Given the description of an element on the screen output the (x, y) to click on. 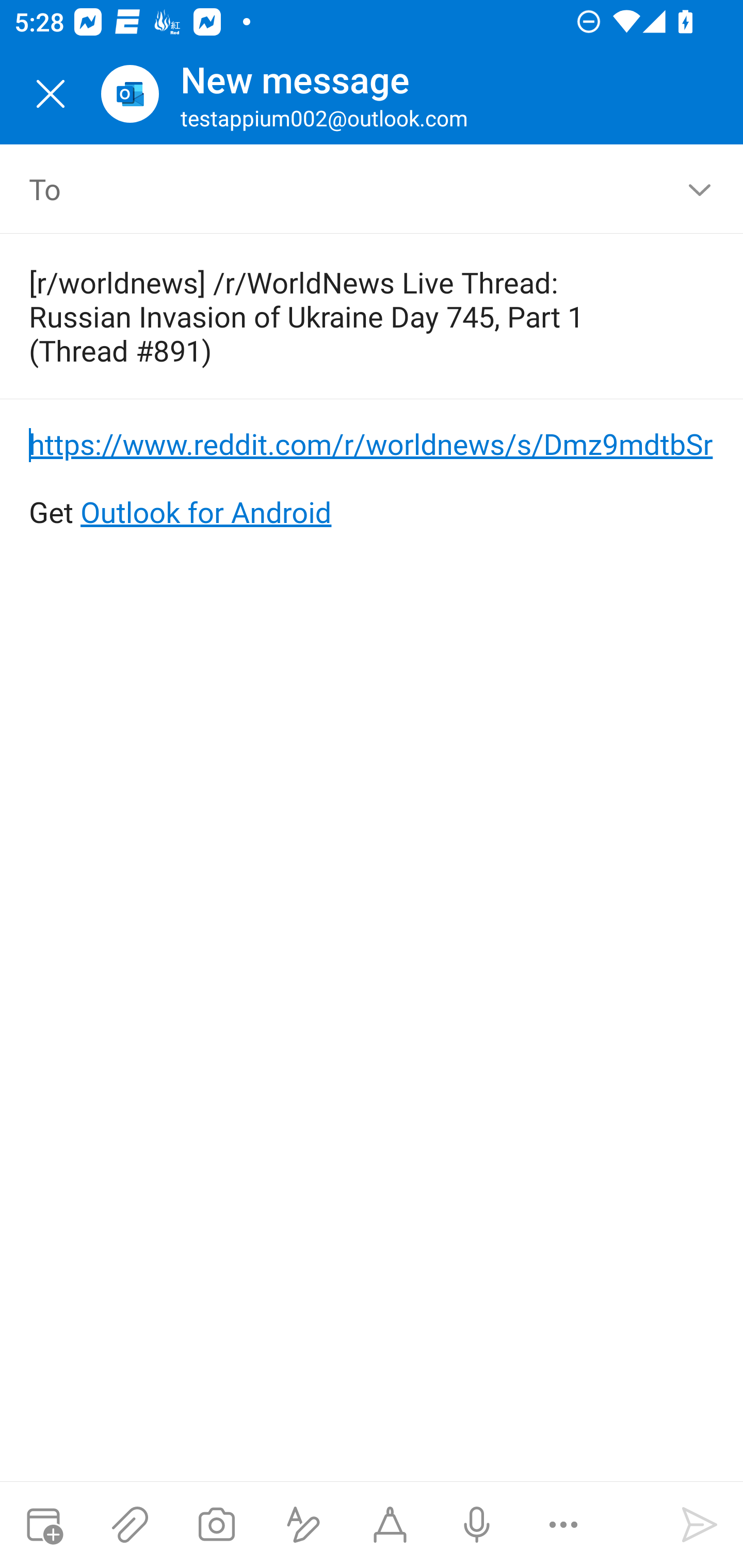
Close (50, 93)
Attach meeting (43, 1524)
Attach files (129, 1524)
Take a photo (216, 1524)
Show formatting options (303, 1524)
Start Ink compose (389, 1524)
Dictation (476, 1524)
More options (563, 1524)
Send (699, 1524)
